Given the description of an element on the screen output the (x, y) to click on. 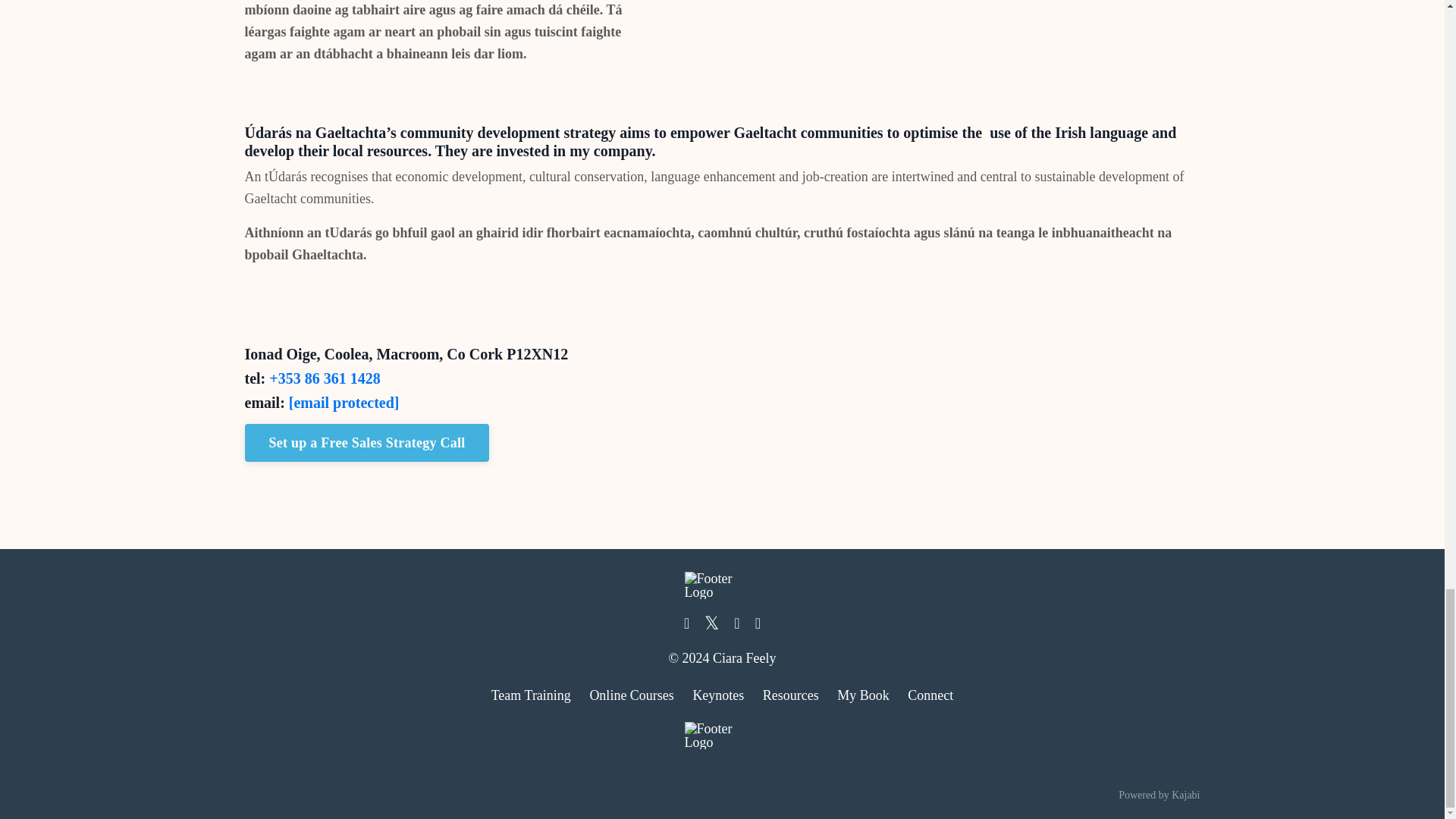
My Book (863, 694)
Connect (930, 694)
Powered by Kajabi (1158, 794)
Team Training (531, 694)
Resources (790, 694)
Online Courses (631, 694)
Keynotes (718, 694)
Set up a Free Sales Strategy Call (366, 442)
